Given the description of an element on the screen output the (x, y) to click on. 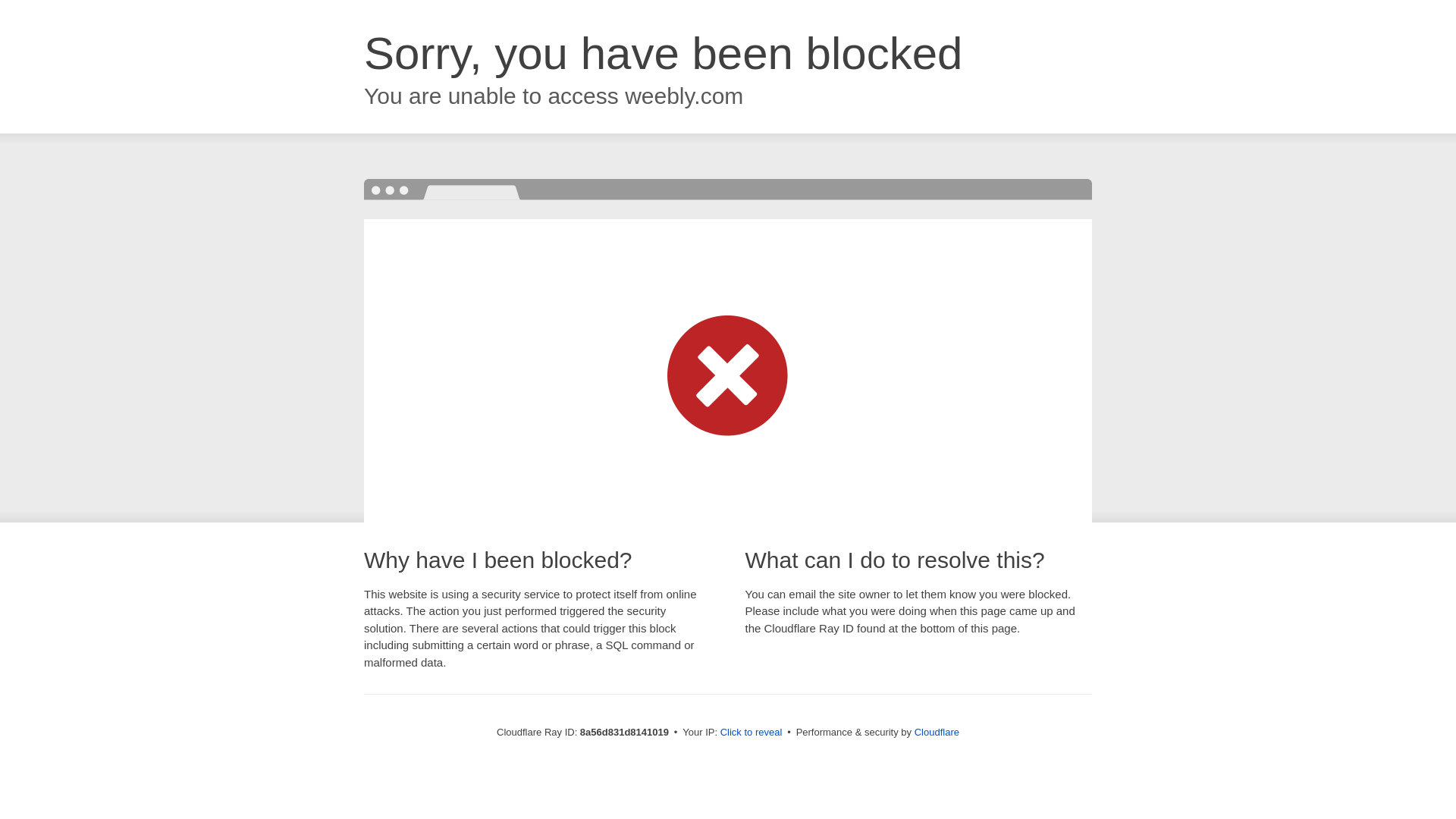
Cloudflare (936, 731)
Click to reveal (751, 732)
